Given the description of an element on the screen output the (x, y) to click on. 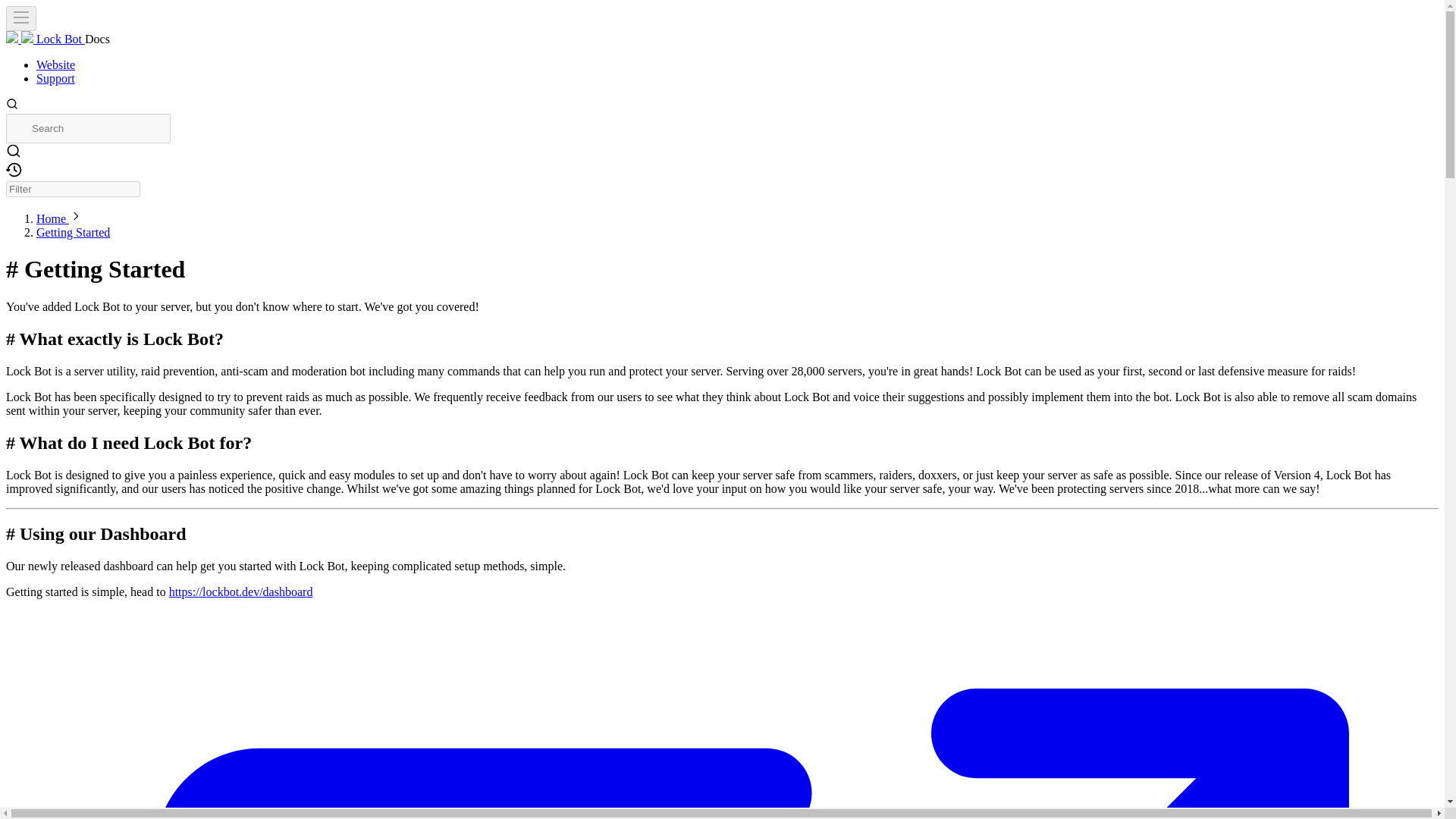
Home (52, 218)
Website (55, 64)
Support (55, 78)
Getting Started (73, 232)
Lock Bot (44, 38)
